Given the description of an element on the screen output the (x, y) to click on. 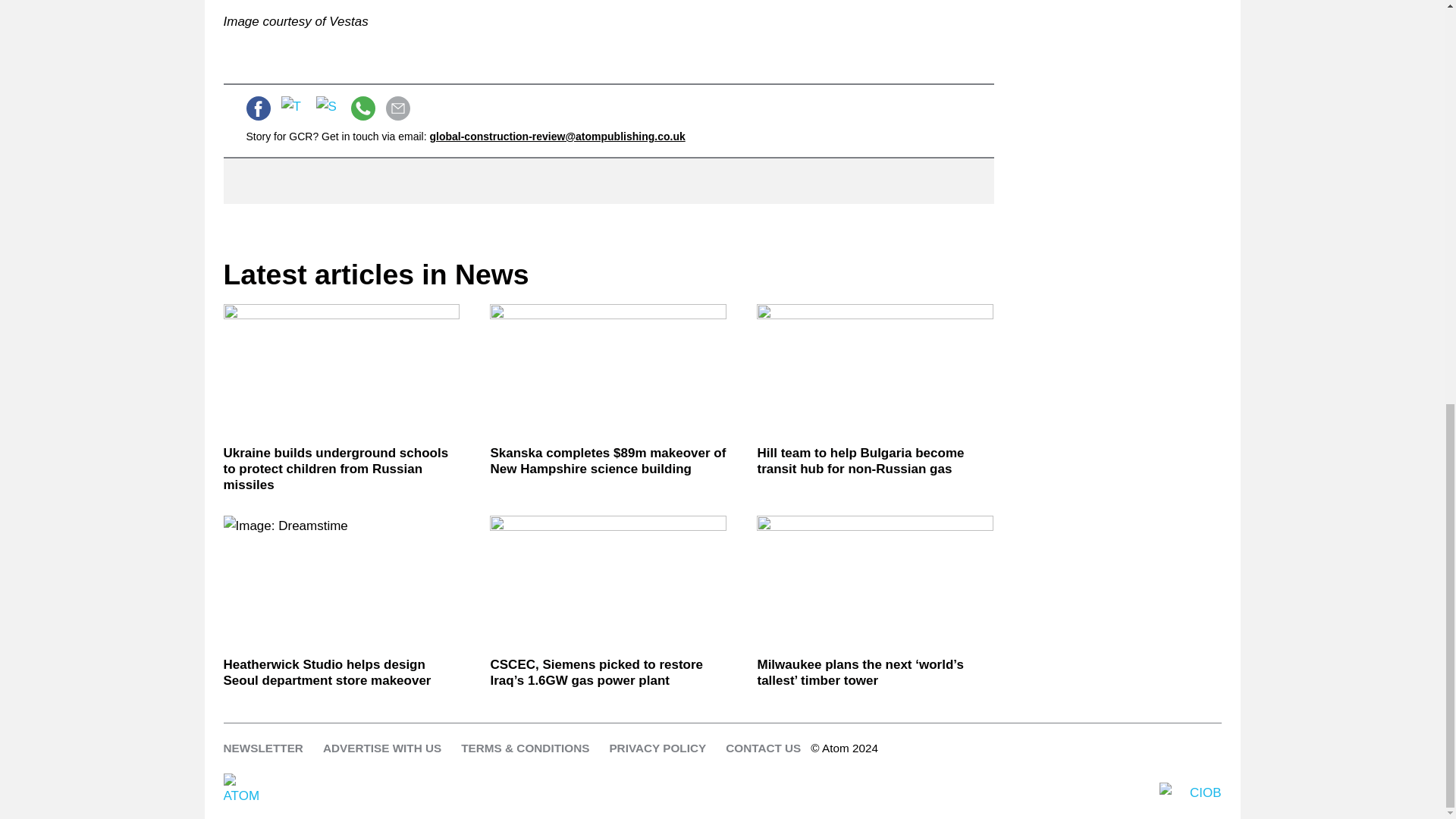
Tweet (292, 108)
Share on LinkedIn (327, 108)
Share on Facebook (257, 108)
Send email (397, 108)
Share on WhatsApp (362, 108)
